Given the description of an element on the screen output the (x, y) to click on. 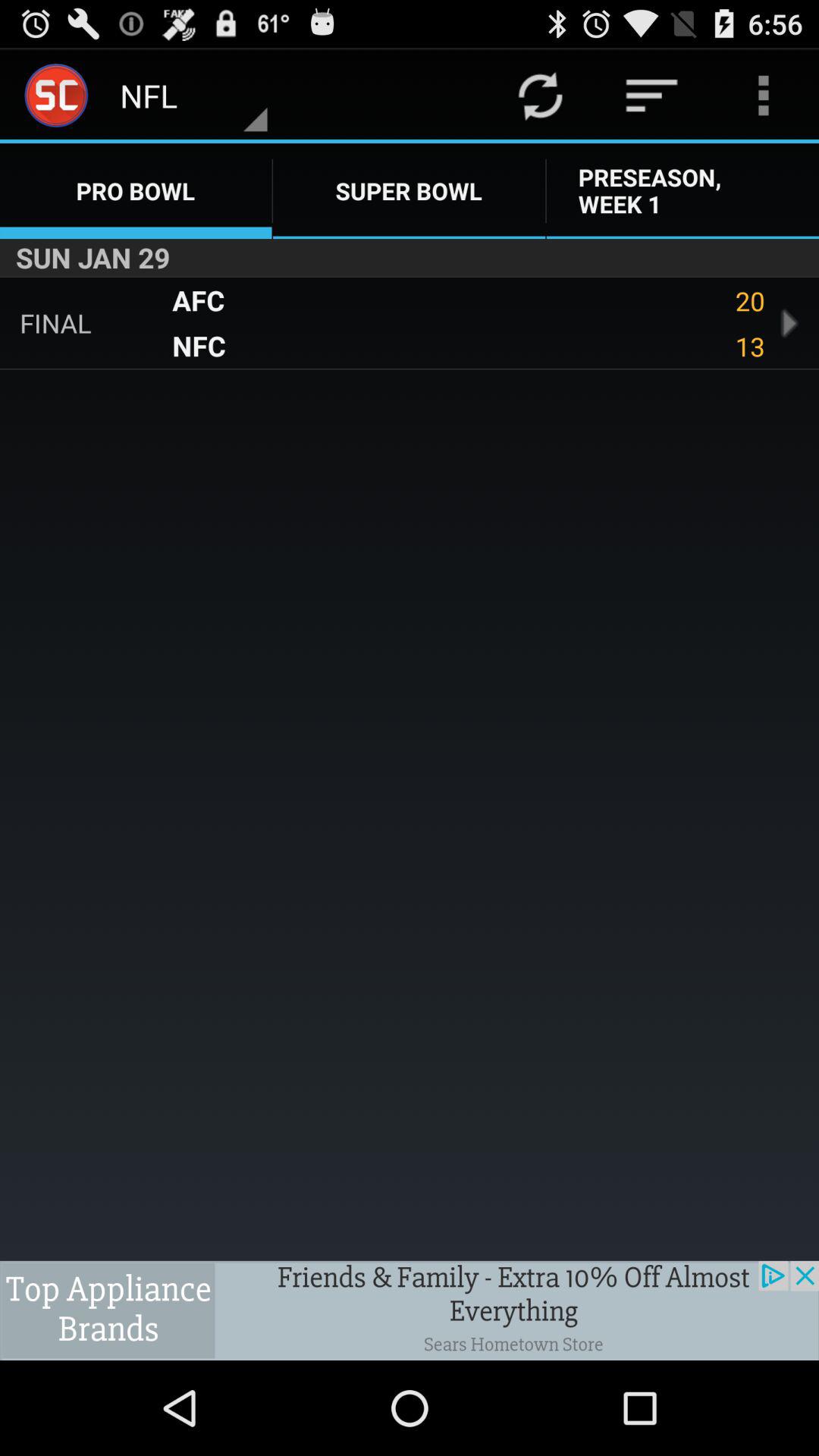
announcement (409, 1310)
